Given the description of an element on the screen output the (x, y) to click on. 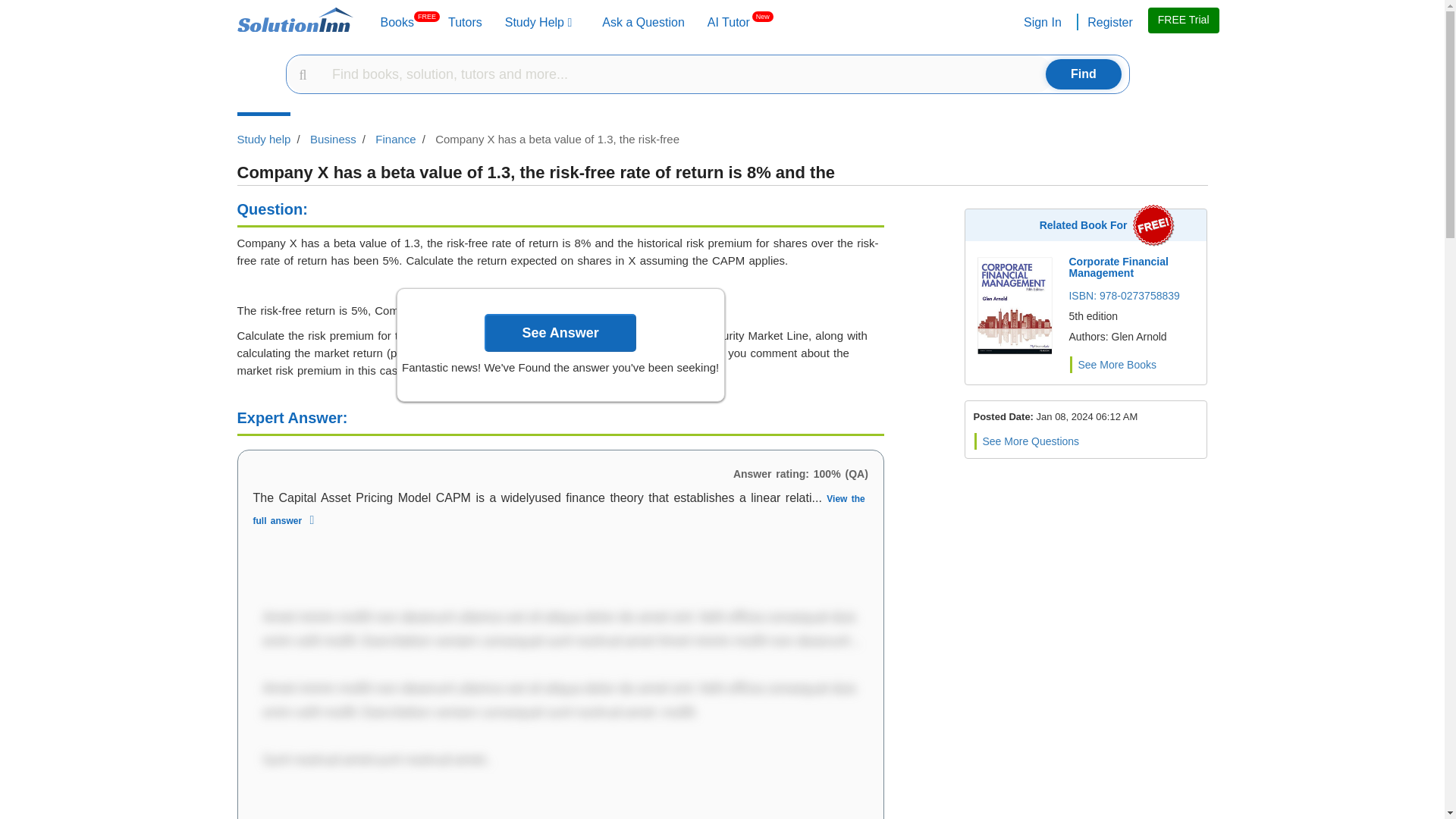
Posted Date (1087, 416)
Study Help (538, 24)
Register (1108, 24)
Ask a Question (643, 24)
Sign In (1040, 24)
Tutors (728, 24)
Ask a Question (397, 24)
